Given the description of an element on the screen output the (x, y) to click on. 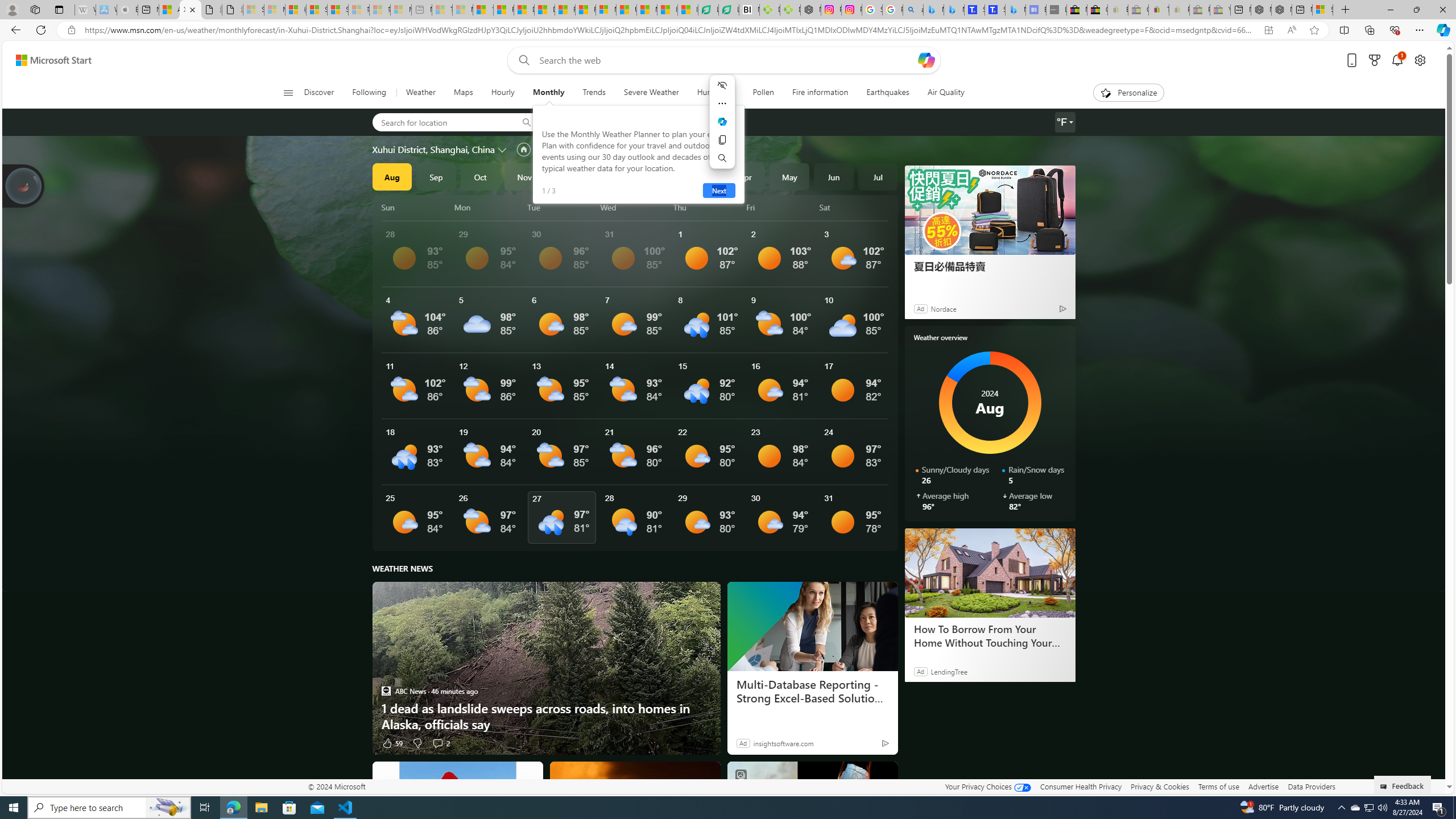
Weather settings (1064, 122)
Press Room - eBay Inc. - Sleeping (1199, 9)
LendingTree - Compare Lenders (728, 9)
Buy iPad - Apple - Sleeping (127, 9)
Sign in to your Microsoft account (1322, 9)
Earthquakes (887, 92)
Severe Weather (651, 92)
Drinking tea every day is proven to delay biological aging (544, 9)
Skip to content (49, 59)
Marine life - MSN - Sleeping (461, 9)
